Given the description of an element on the screen output the (x, y) to click on. 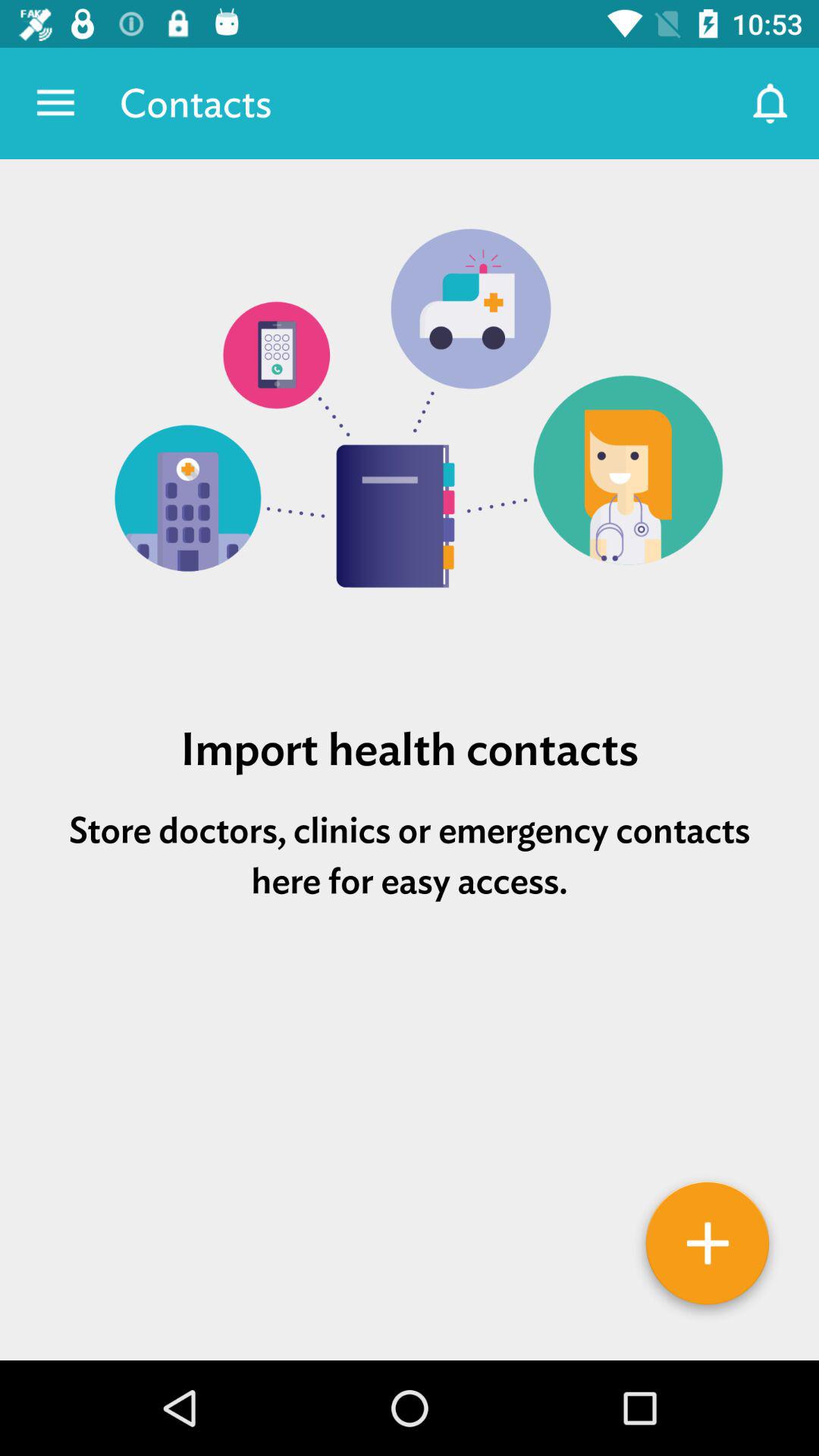
scroll to import health contacts icon (409, 748)
